Given the description of an element on the screen output the (x, y) to click on. 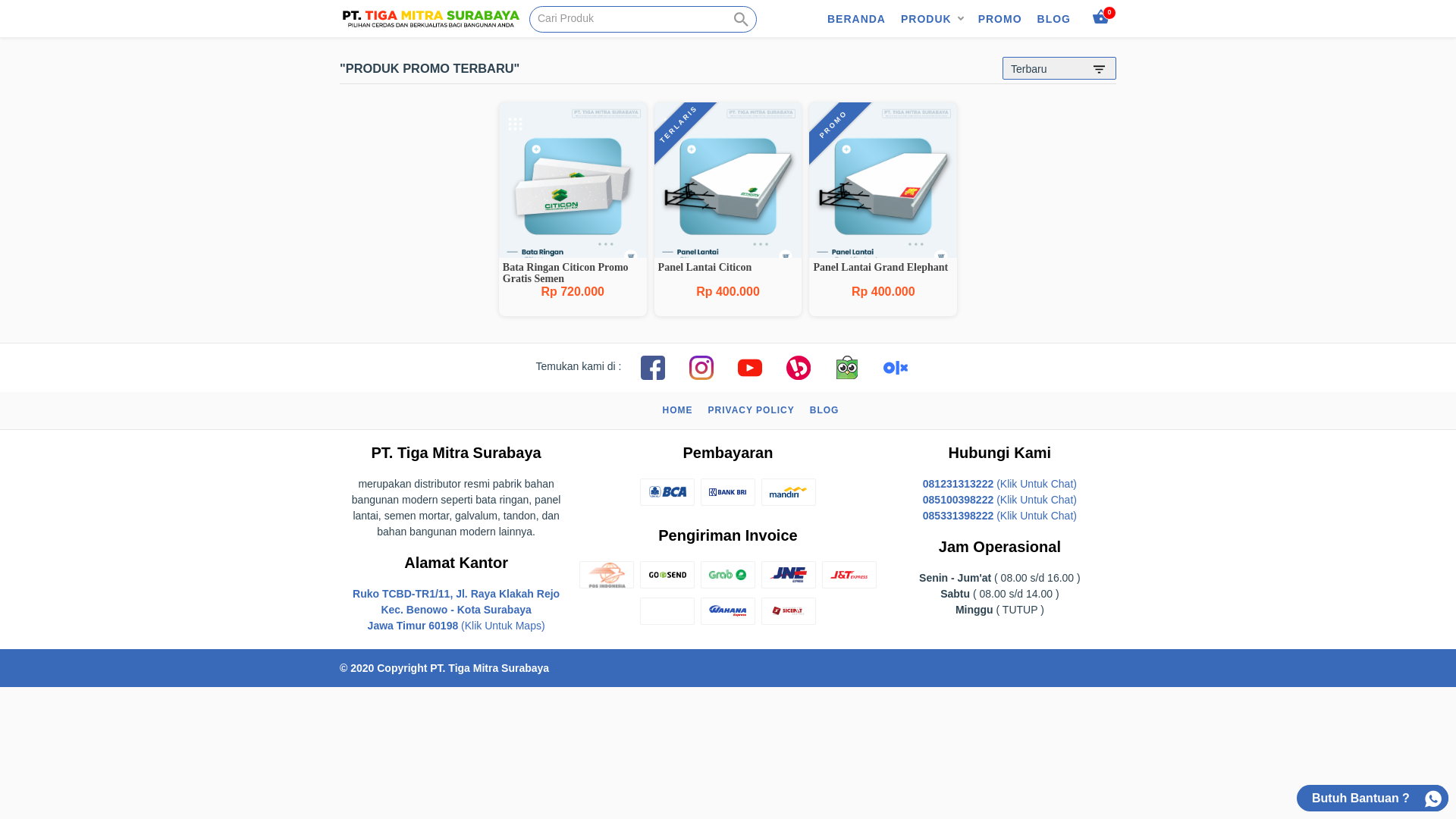
PRIVACY POLICY Element type: text (751, 410)
HOME Element type: text (677, 410)
PRODUK Element type: text (925, 18)
BERANDA Element type: text (856, 18)
BLOG Element type: text (824, 410)
Bata Ringan Citicon Promo Gratis Semen
Rp 720.000 Element type: text (572, 209)
Butuh Bantuan ? Element type: text (1372, 797)
BLOG Element type: text (1053, 18)
085100398222 (Klik Untuk Chat) Element type: text (999, 499)
085331398222 (Klik Untuk Chat) Element type: text (999, 515)
TERLARIS
Panel Lantai Citicon
Rp 400.000 Element type: text (728, 209)
PROMO
Panel Lantai Grand Elephant
Rp 400.000 Element type: text (883, 209)
081231313222 (Klik Untuk Chat) Element type: text (999, 483)
PROMO Element type: text (1000, 18)
